Given the description of an element on the screen output the (x, y) to click on. 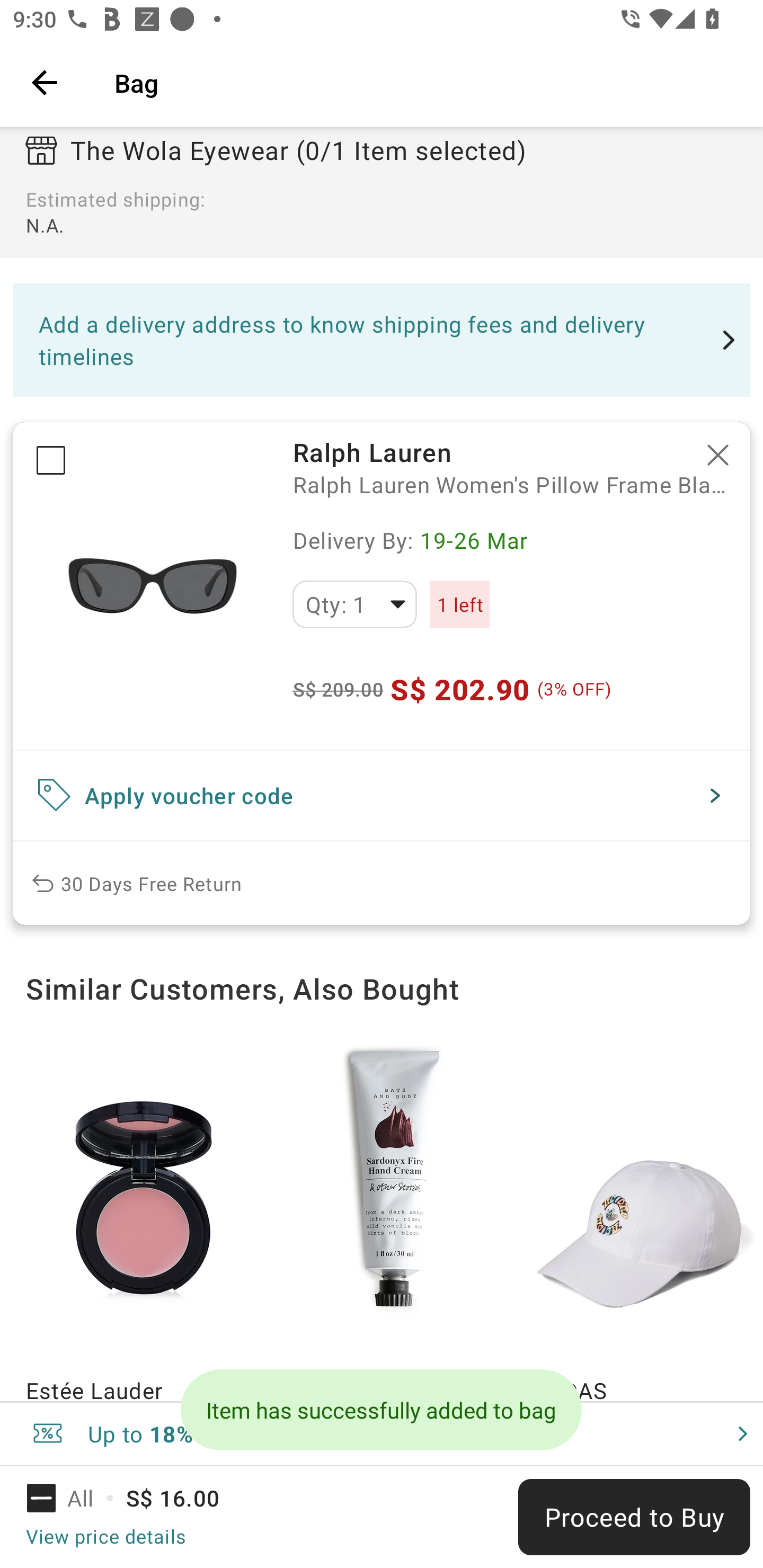
Navigate up (44, 82)
Bag (426, 82)
Qty: 1 (354, 604)
Apply voucher code (381, 795)
Estée Lauder (143, 1214)
& Other Stories (393, 1214)
ADIDAS (644, 1214)
Up to 18% off (381, 1433)
All (72, 1497)
Proceed to Buy (634, 1516)
View price details (105, 1535)
